Given the description of an element on the screen output the (x, y) to click on. 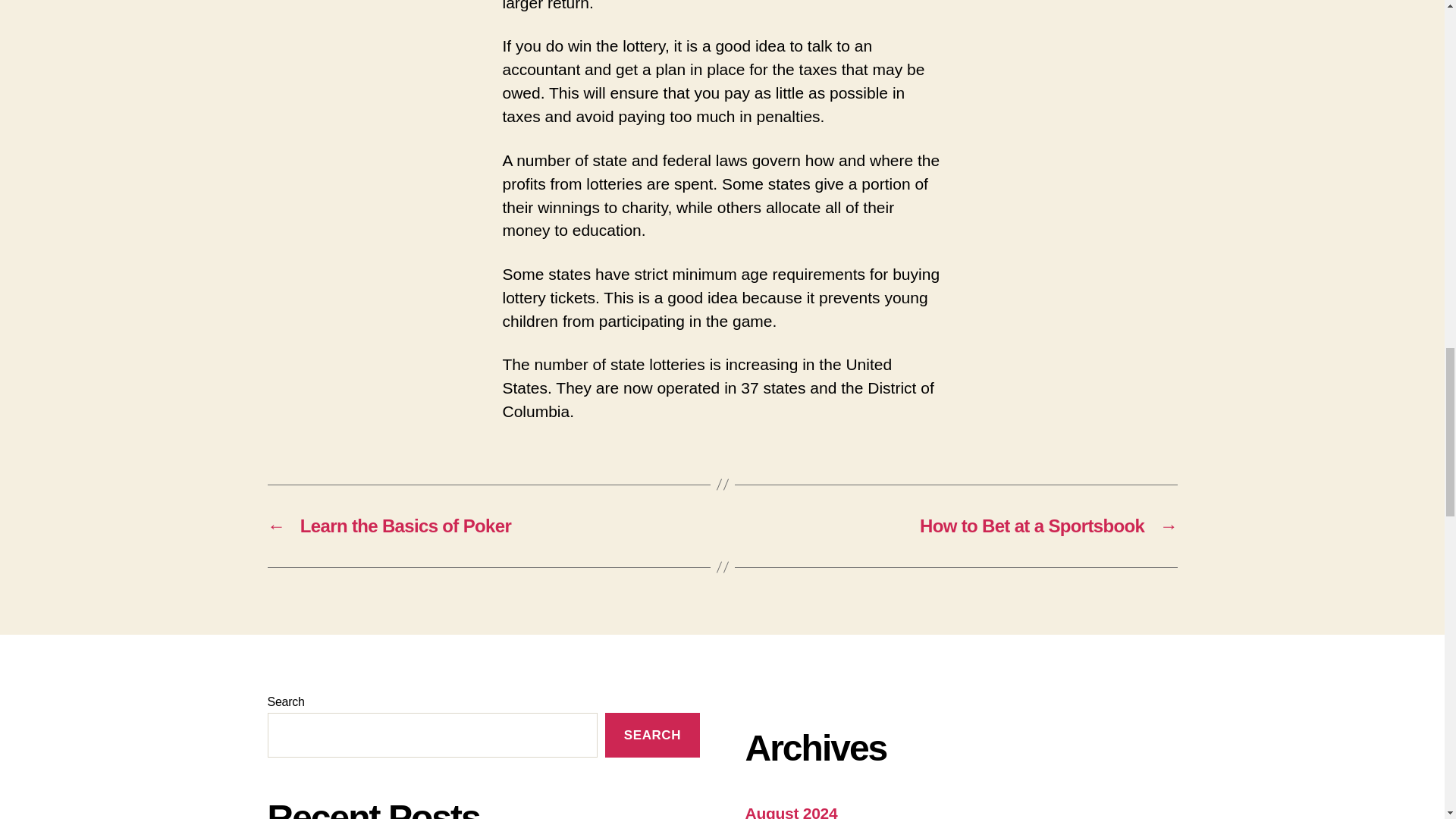
SEARCH (651, 734)
August 2024 (790, 811)
